Given the description of an element on the screen output the (x, y) to click on. 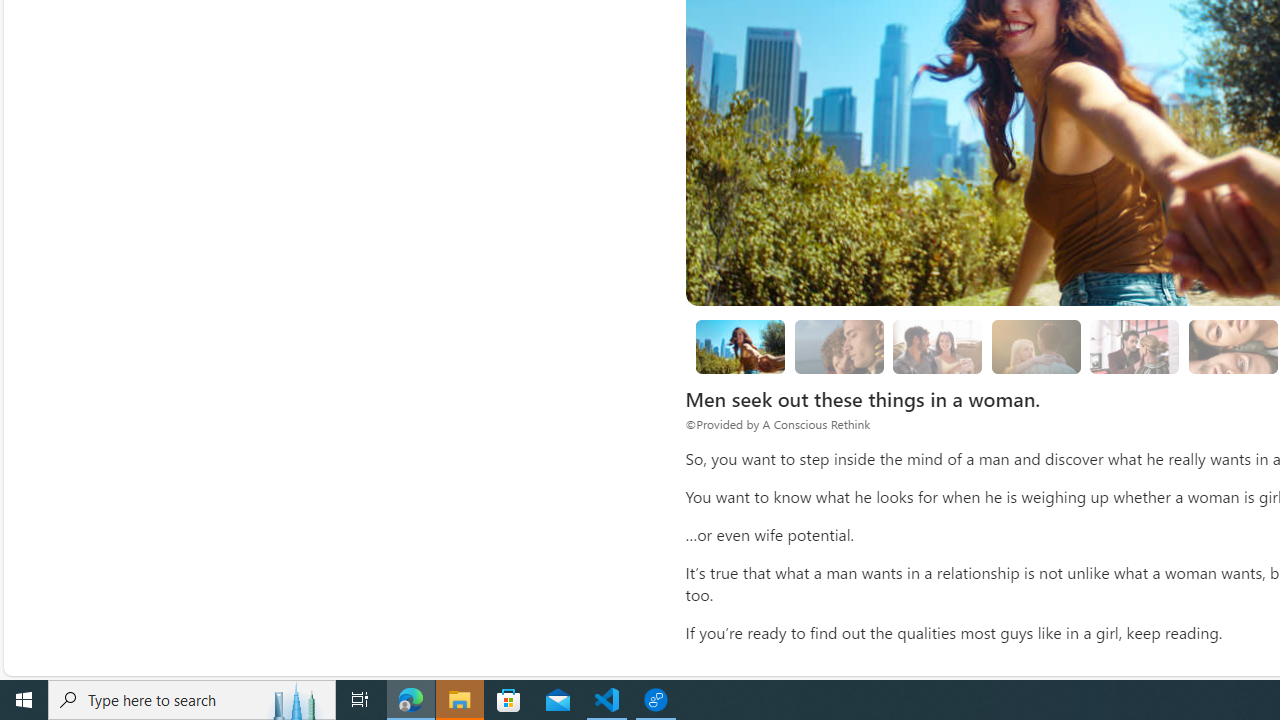
1. She is compassionate. (838, 346)
1. She is compassionate. (838, 346)
4. She is supportive. (1134, 346)
Men seek out these things in a woman. (740, 346)
2. She is accepting. (938, 346)
2. She is accepting. (937, 346)
3. She is appreciative. (1035, 346)
Men seek out these things in a woman. (740, 346)
5. She is independent. (1232, 346)
4. She is supportive. (1135, 346)
3. She is appreciative. (1035, 346)
Class: progress (1134, 343)
